Given the description of an element on the screen output the (x, y) to click on. 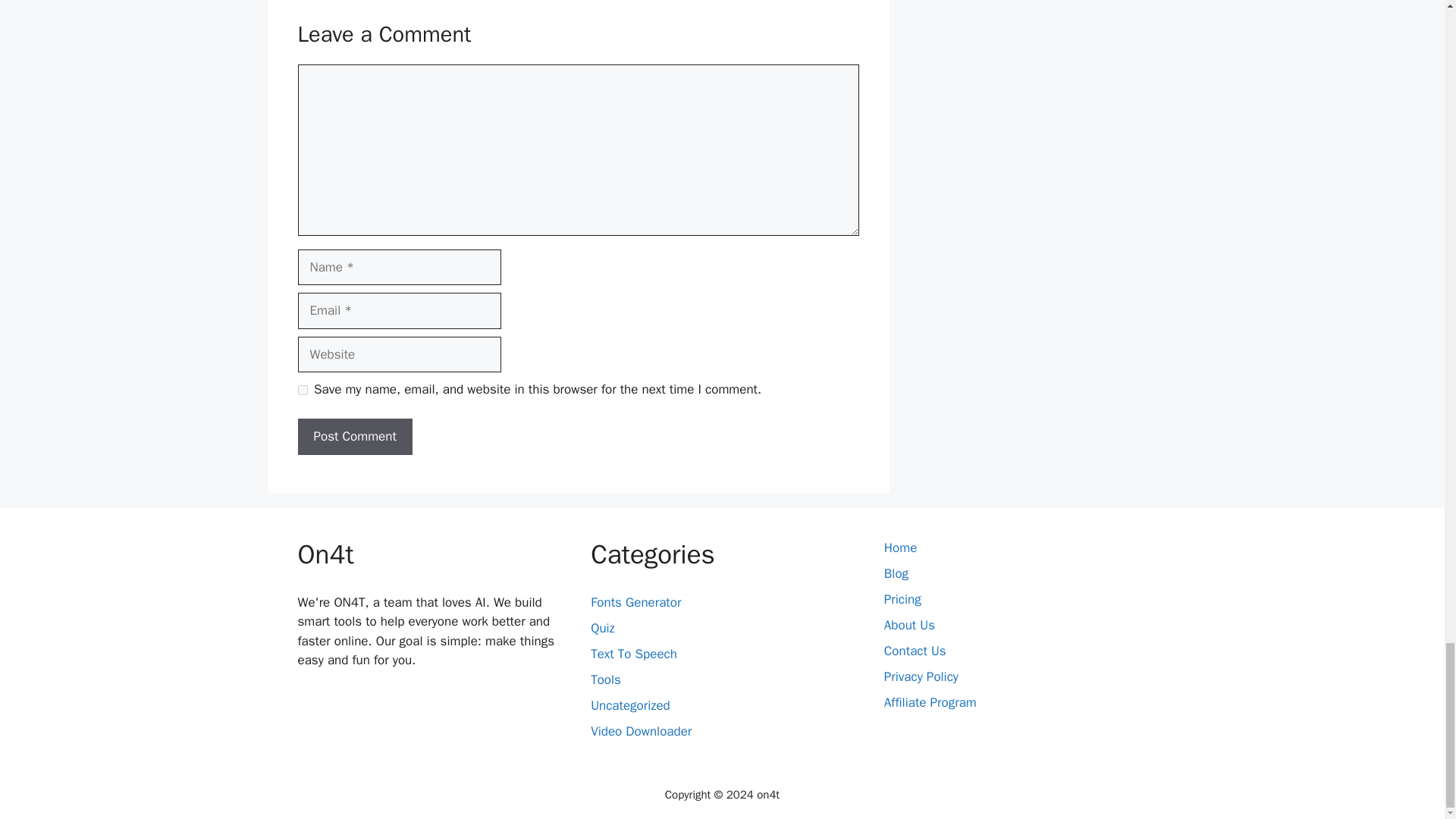
yes (302, 389)
Post Comment (354, 436)
Post Comment (354, 436)
